Given the description of an element on the screen output the (x, y) to click on. 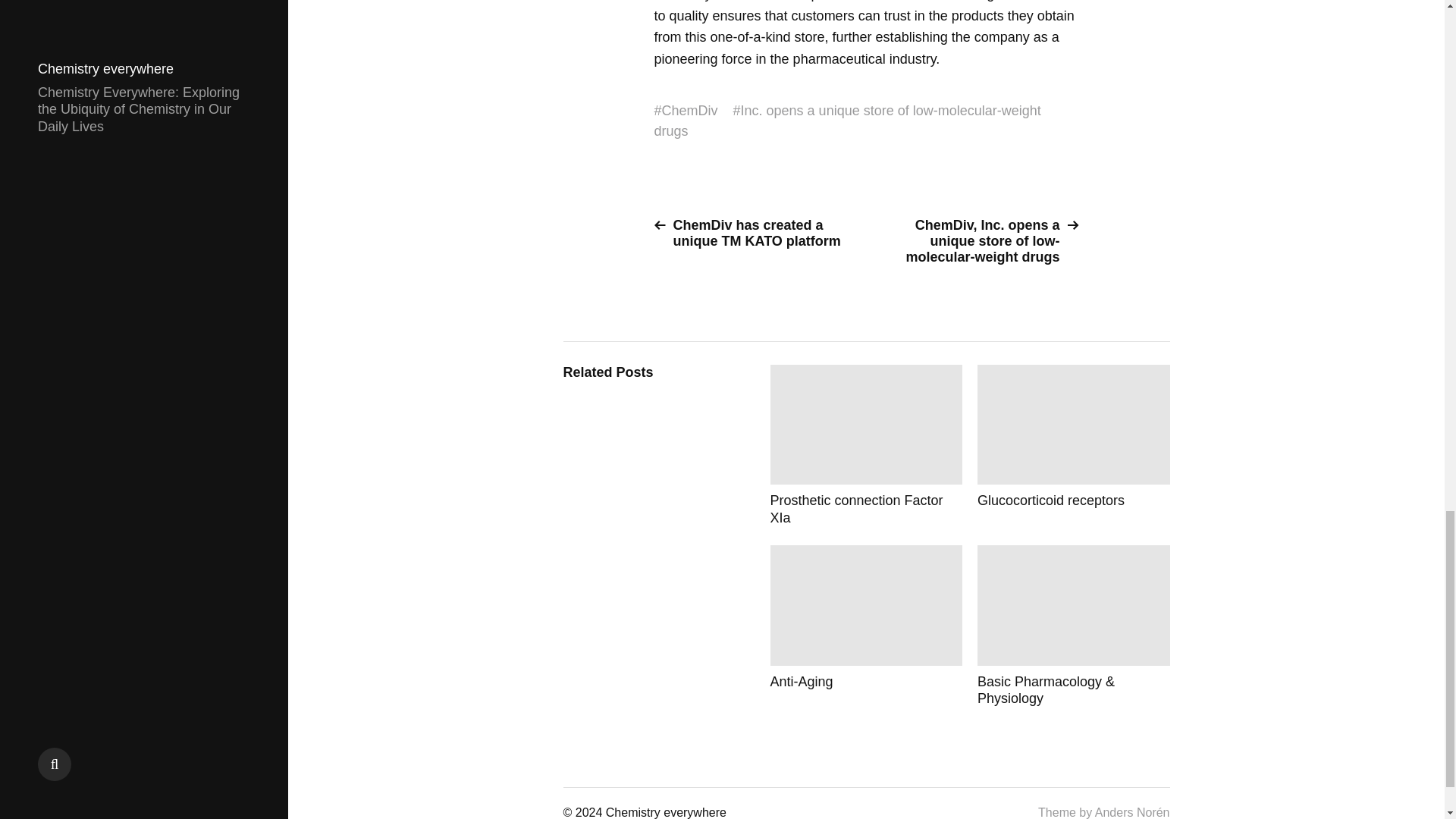
Glucocorticoid receptors (1073, 445)
ChemDiv (689, 110)
Anti-Aging (866, 625)
Inc. opens a unique store of low-molecular-weight drugs (847, 121)
Prosthetic connection Factor XIa (866, 445)
ChemDiv has created a unique TM KATO platform (753, 233)
